Given the description of an element on the screen output the (x, y) to click on. 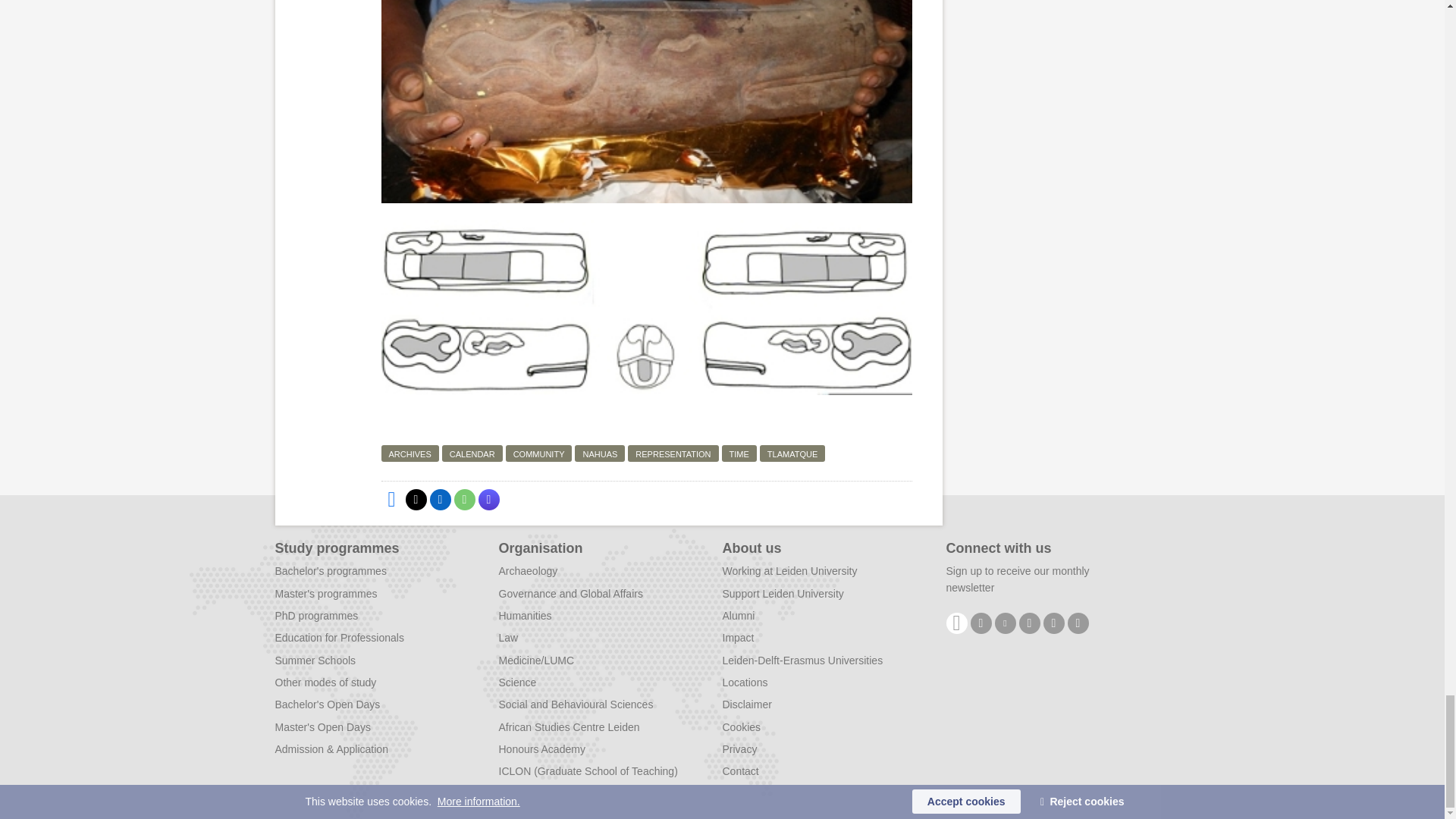
COMMUNITY (538, 453)
ARCHIVES (409, 453)
NAHUAS (599, 453)
Share on LinkedIn (439, 499)
Share on Facebook (390, 499)
CALENDAR (472, 453)
Share by WhatsApp (463, 499)
Share on X (415, 499)
Share by Mastodon (488, 499)
